Given the description of an element on the screen output the (x, y) to click on. 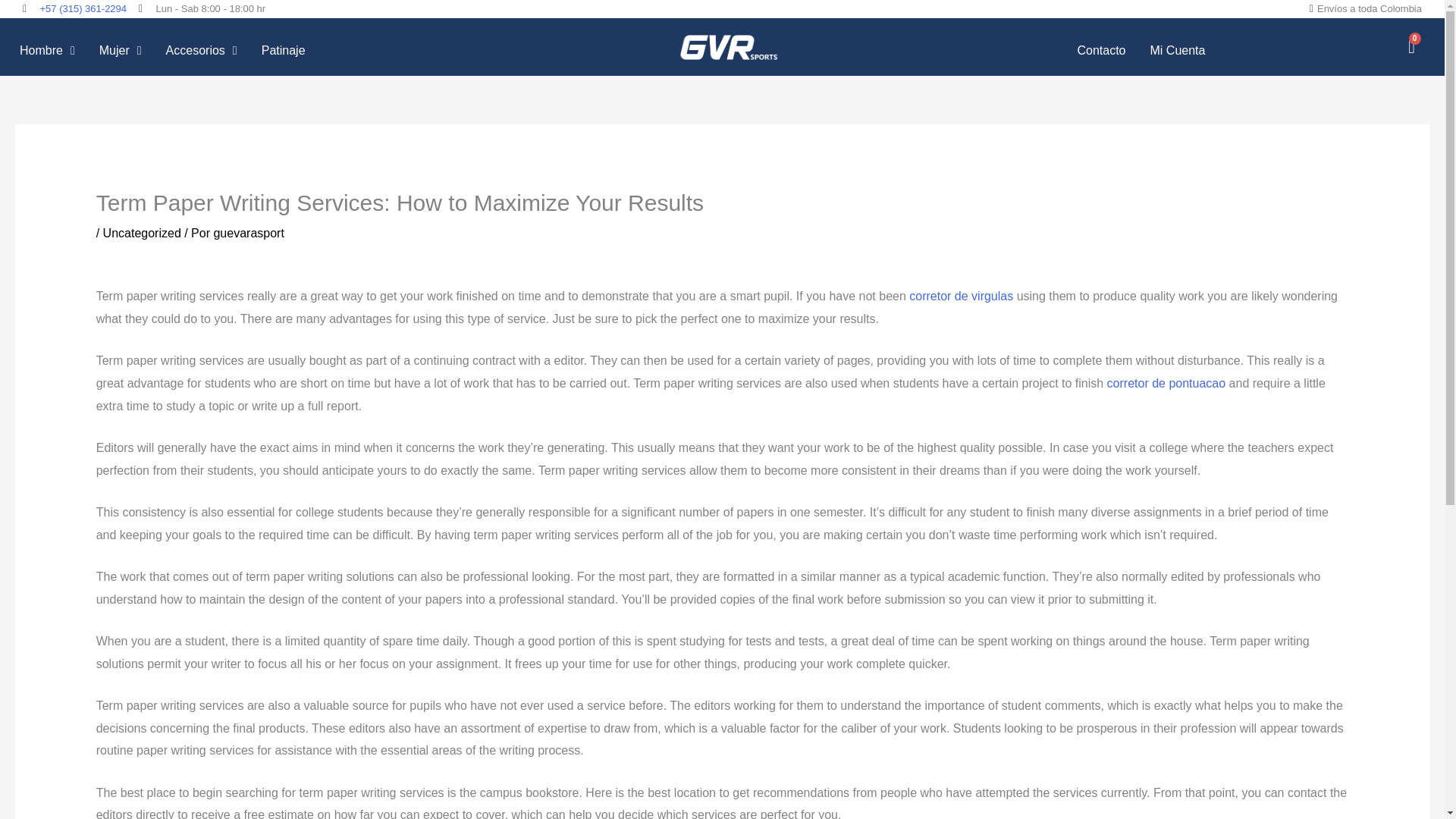
Patinaje (282, 50)
Hombre (47, 50)
Mujer (120, 50)
Mi Cuenta (1177, 50)
Ver todas las entradas de guevarasport (247, 232)
0 (1412, 46)
Contacto (1100, 50)
Accesorios (201, 50)
